Given the description of an element on the screen output the (x, y) to click on. 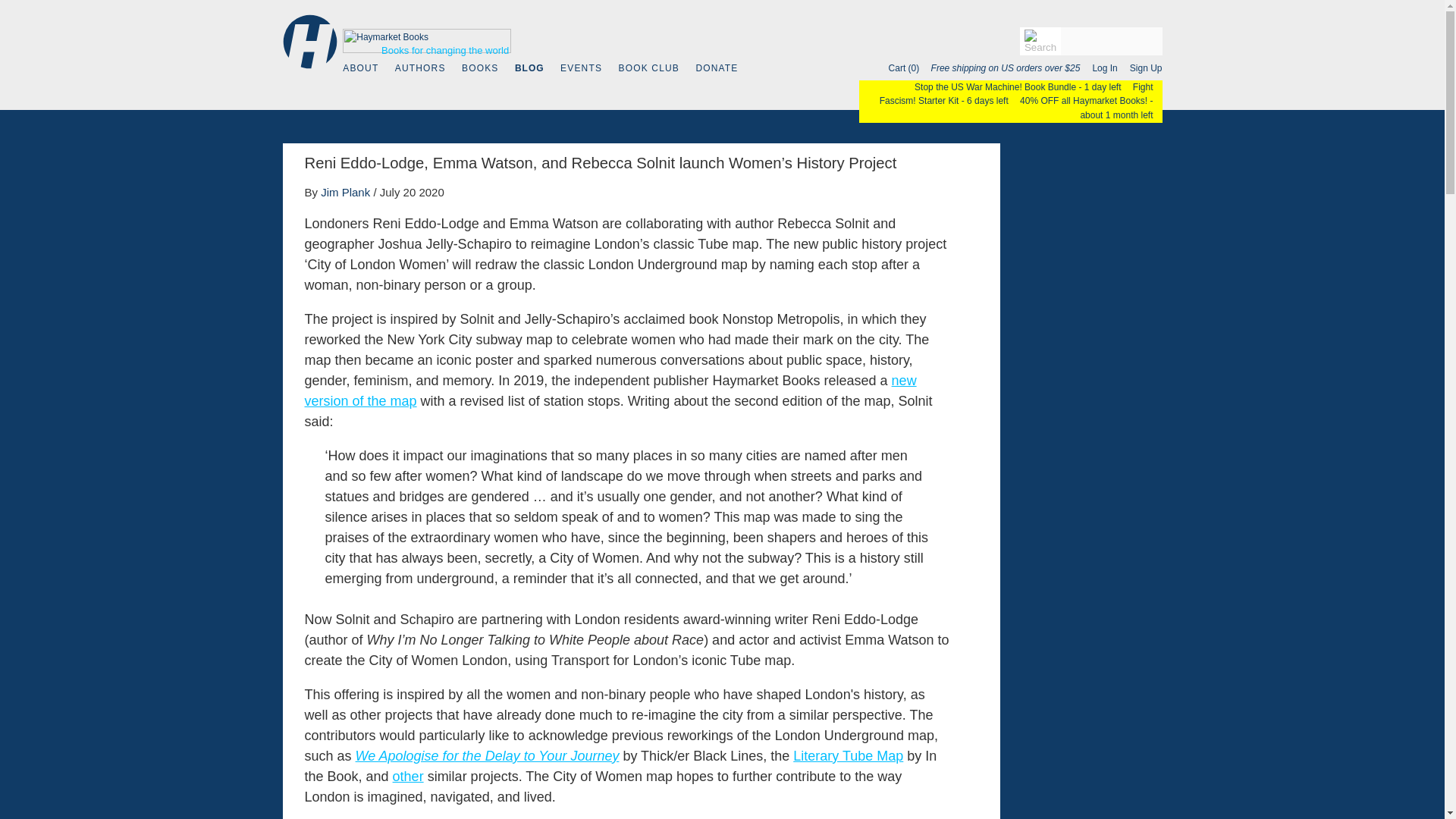
Jim Plank (344, 192)
DONATE (716, 68)
Log In (1099, 68)
BOOK CLUB (648, 68)
Literary Tube Map (847, 755)
other (408, 776)
Fight Fascism! Starter Kit (1016, 94)
BOOKS (479, 68)
Sign Up (1141, 68)
EVENTS (581, 68)
ABOUT (360, 68)
AUTHORS (419, 68)
We Apologise for the Delay to Your Journey (487, 755)
Stop the US War Machine! Book Bundle (990, 86)
new version of the map (610, 390)
